Given the description of an element on the screen output the (x, y) to click on. 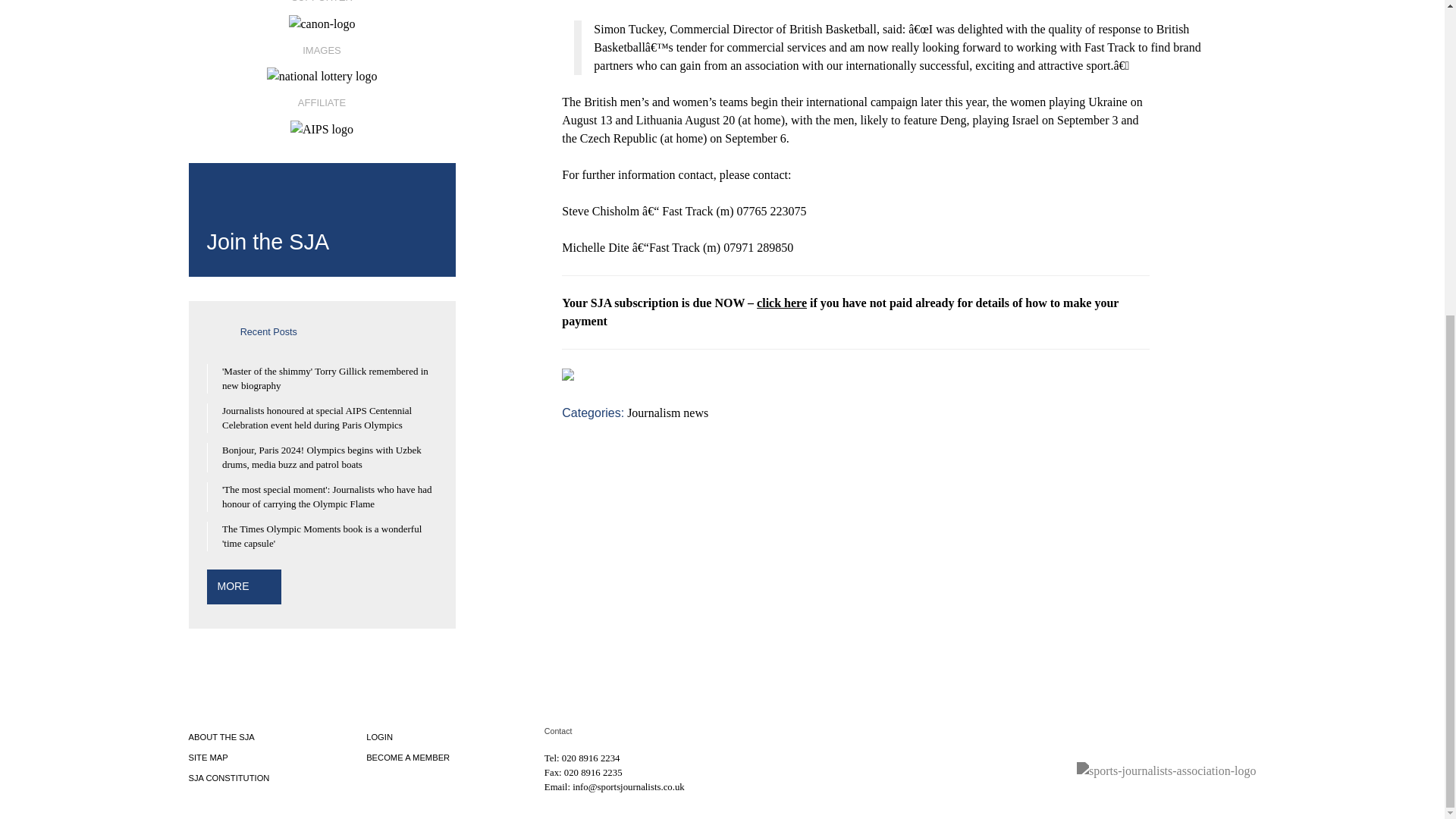
BECOME A MEMBER (407, 757)
View more posts from the archive (232, 585)
SUPPORTER (320, 15)
SITE MAP (207, 757)
AFFILIATE (320, 110)
ABOUT THE SJA (220, 737)
click here (781, 302)
